Given the description of an element on the screen output the (x, y) to click on. 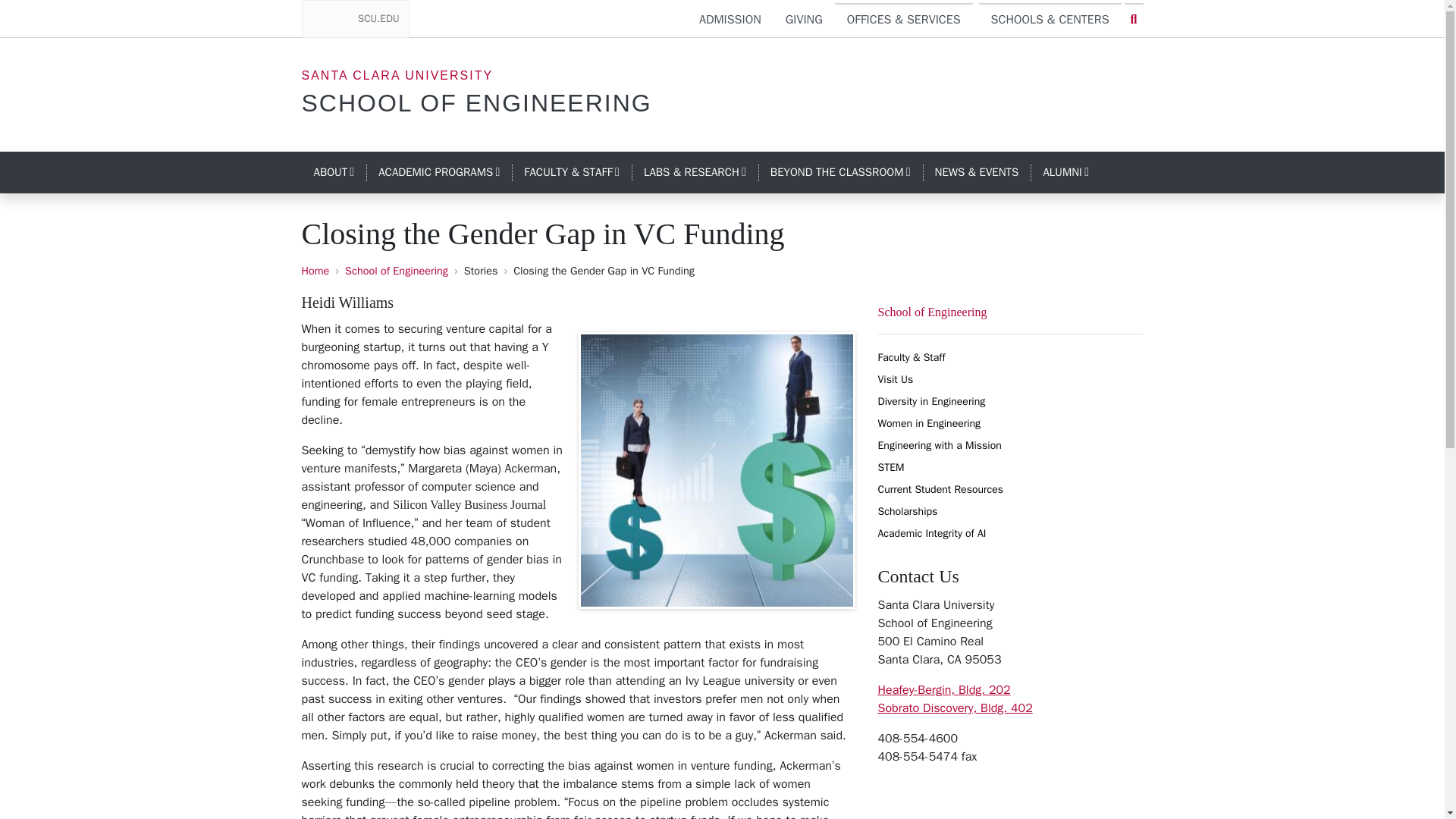
Sobrato Discovery, Bldg. 402 (954, 708)
SCHOOL OF ENGINEERING (333, 172)
SANTA CLARA UNIVERSITY (476, 103)
SCU.EDU (397, 74)
ADMISSION (355, 18)
GIVING (730, 19)
